Given the description of an element on the screen output the (x, y) to click on. 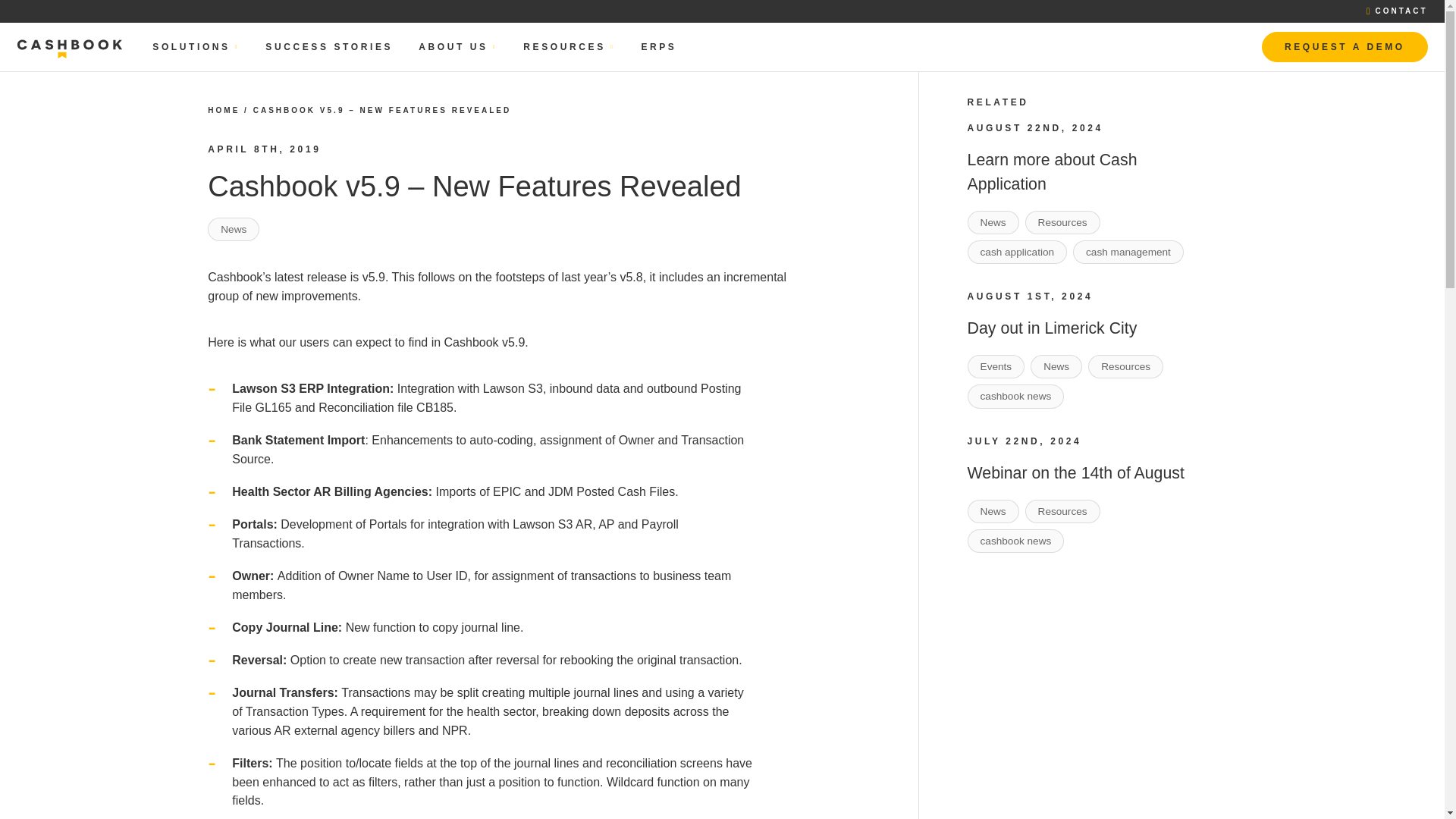
SUCCESS STORIES (328, 47)
News (233, 228)
Learn more about Cash Application (1052, 171)
News (1055, 366)
SOLUTIONS (196, 47)
ERPS (658, 47)
ABOUT US (458, 47)
Events (996, 366)
cash application (1017, 251)
REQUEST A DEMO (1344, 46)
